Given the description of an element on the screen output the (x, y) to click on. 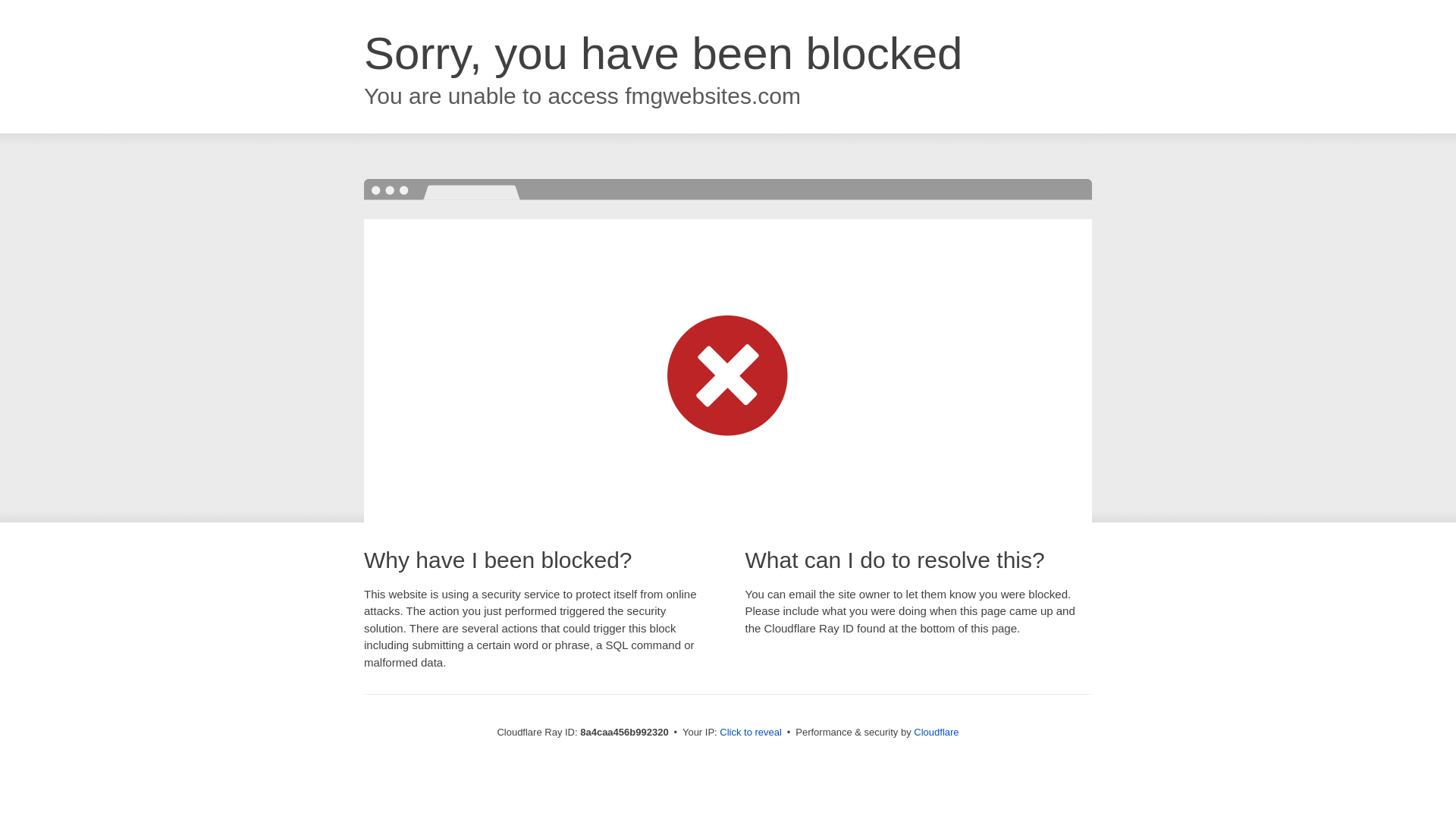
Cloudflare (936, 731)
Click to reveal (750, 732)
